Given the description of an element on the screen output the (x, y) to click on. 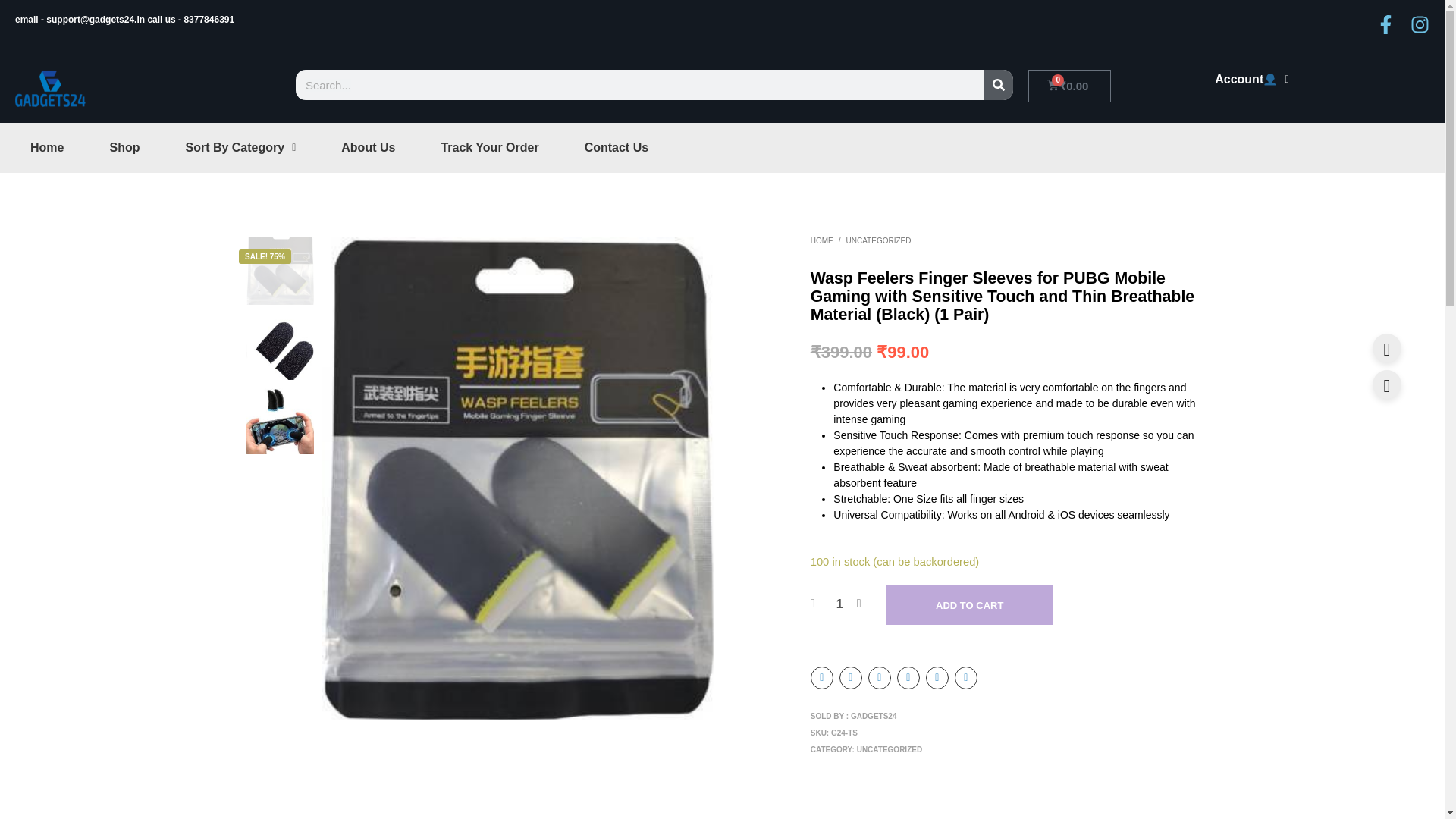
Home (46, 147)
Account (1252, 79)
1 (839, 604)
Shop (123, 147)
Sort By Category (239, 147)
